Given the description of an element on the screen output the (x, y) to click on. 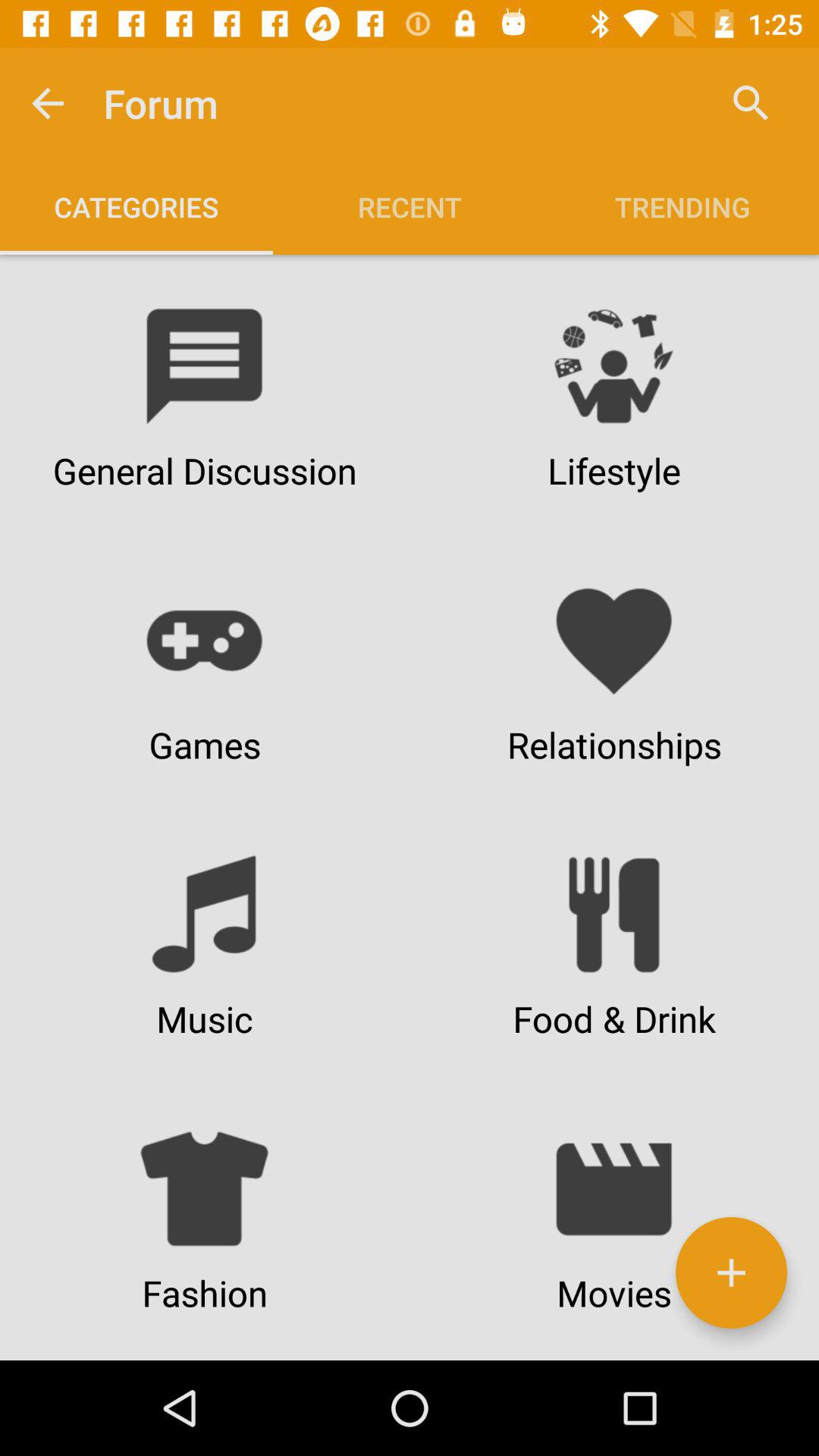
select item below food & drink item (731, 1272)
